Given the description of an element on the screen output the (x, y) to click on. 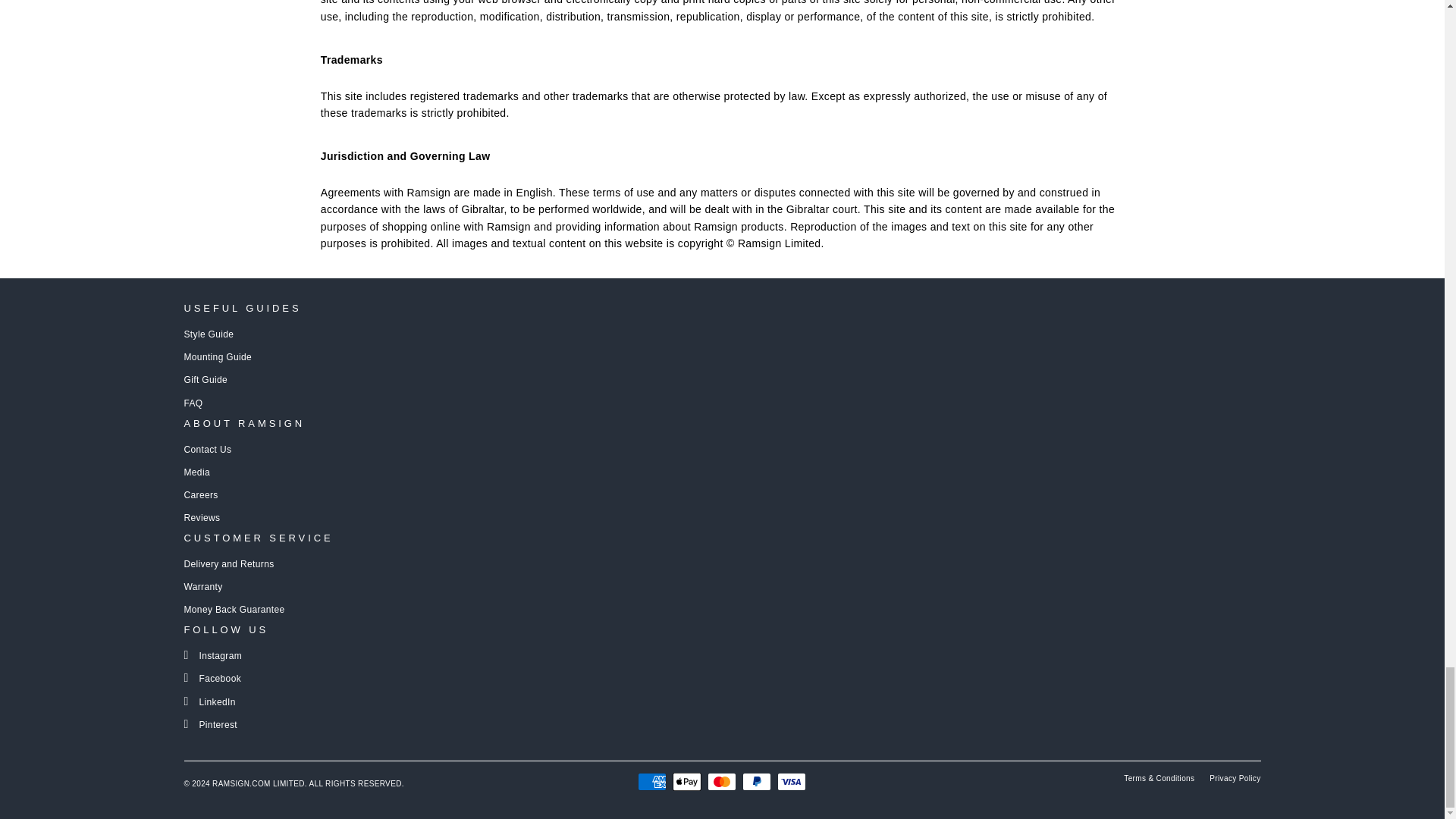
American Express (651, 782)
Mastercard (721, 782)
PayPal (756, 782)
Visa (791, 782)
Apple Pay (686, 782)
